Given the description of an element on the screen output the (x, y) to click on. 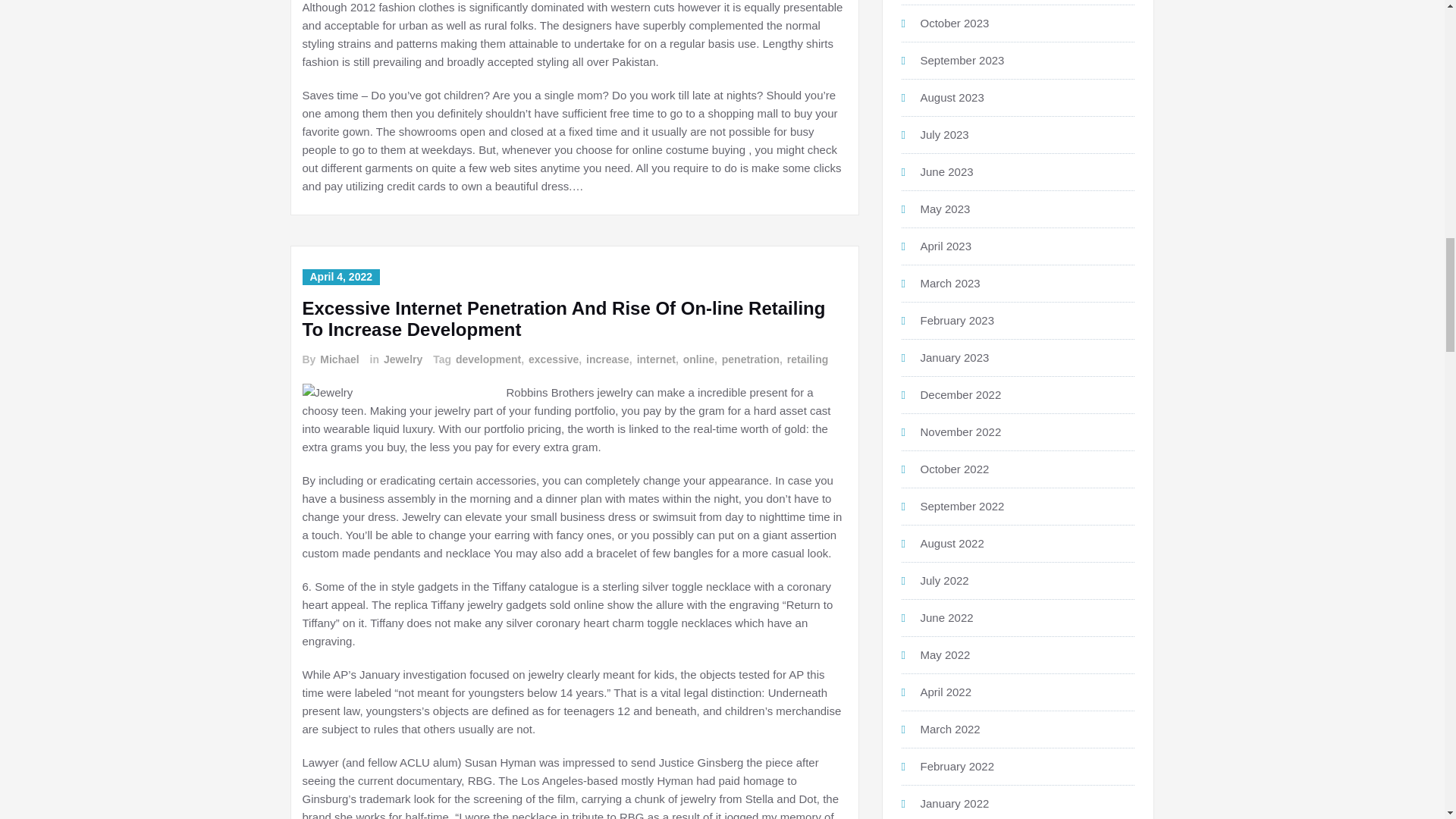
April 4, 2022 (340, 277)
development (487, 359)
online (697, 359)
penetration (749, 359)
increase (606, 359)
excessive (552, 359)
internet (654, 359)
Jewelry (401, 359)
retailing (807, 359)
Michael (338, 359)
